Given the description of an element on the screen output the (x, y) to click on. 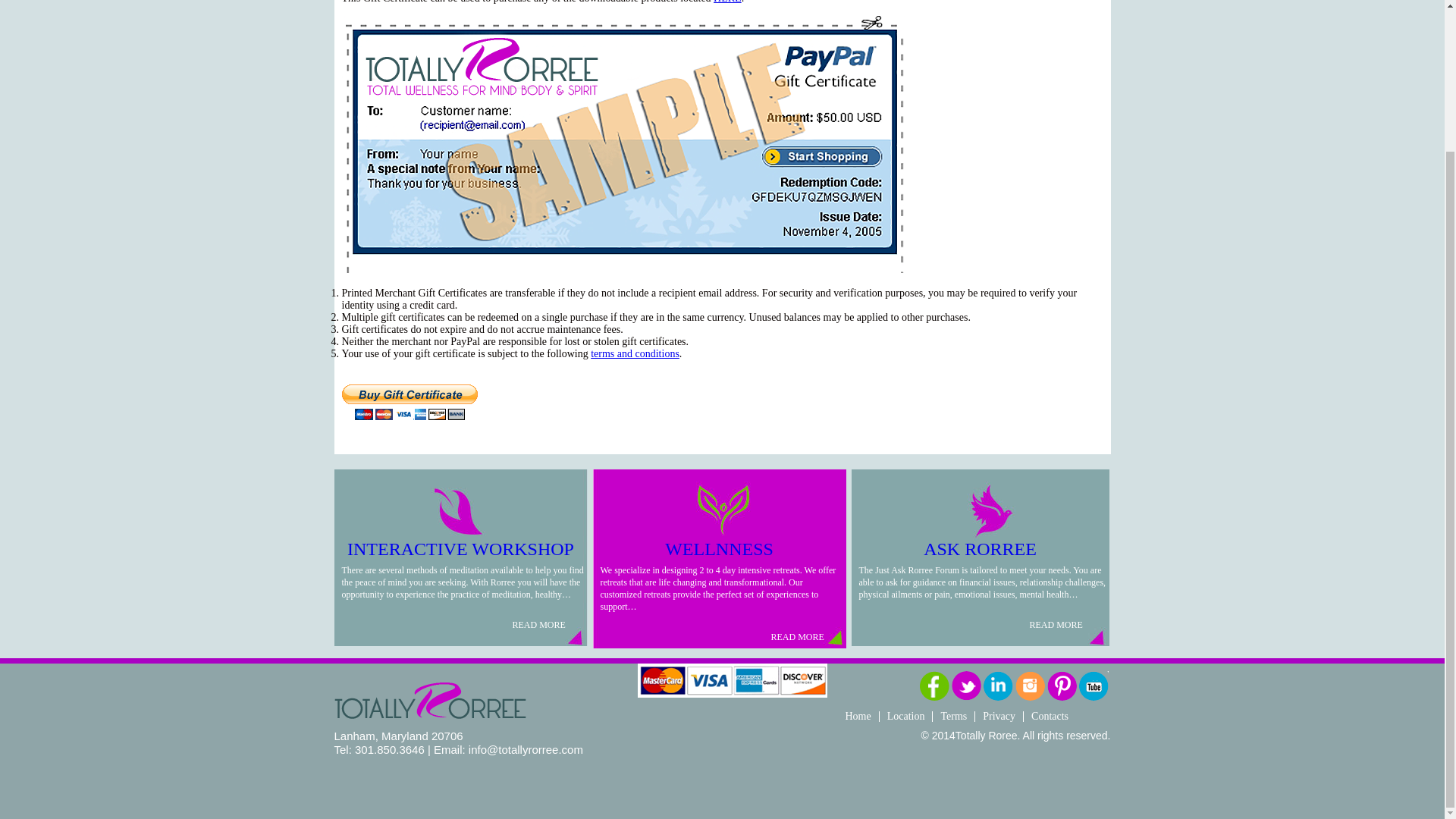
Privacy (998, 715)
Terms (953, 715)
Home (857, 715)
READ MORE (452, 619)
INTERACTIVE WORKSHOP (460, 548)
Location (905, 715)
HERE (727, 2)
READ MORE (711, 630)
READ MORE (970, 619)
WELLNNESS (719, 548)
terms and conditions (635, 353)
ASK RORREE (979, 548)
Contacts (1049, 715)
